Given the description of an element on the screen output the (x, y) to click on. 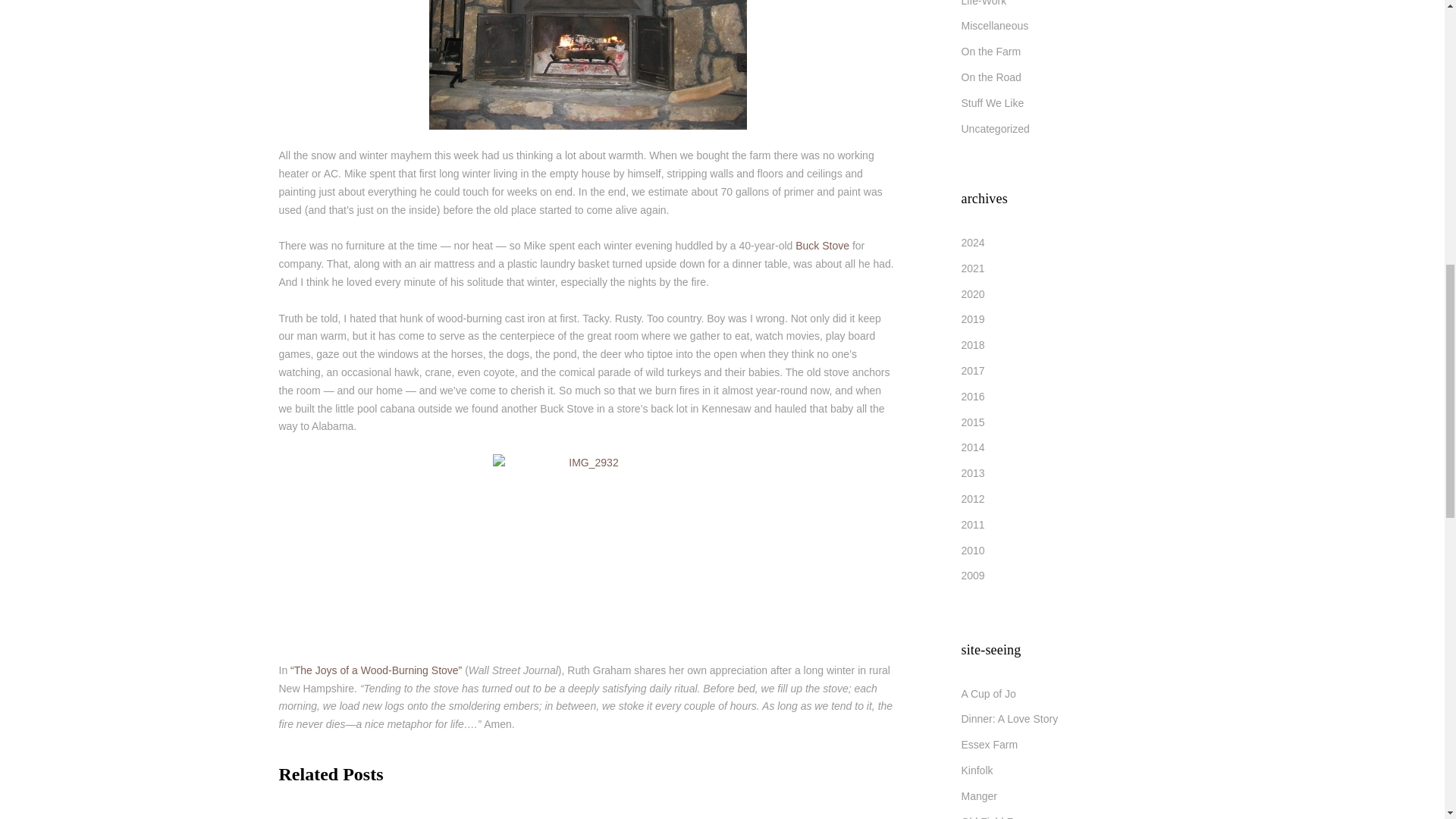
Farm in Winter (510, 806)
Kinfolk (976, 770)
Buck Stove (821, 245)
Shinrin-Yoku This (663, 806)
Dinner A Love Story (1009, 718)
5 years and counting (817, 806)
15 Years, 15 Blessings (355, 806)
